Given the description of an element on the screen output the (x, y) to click on. 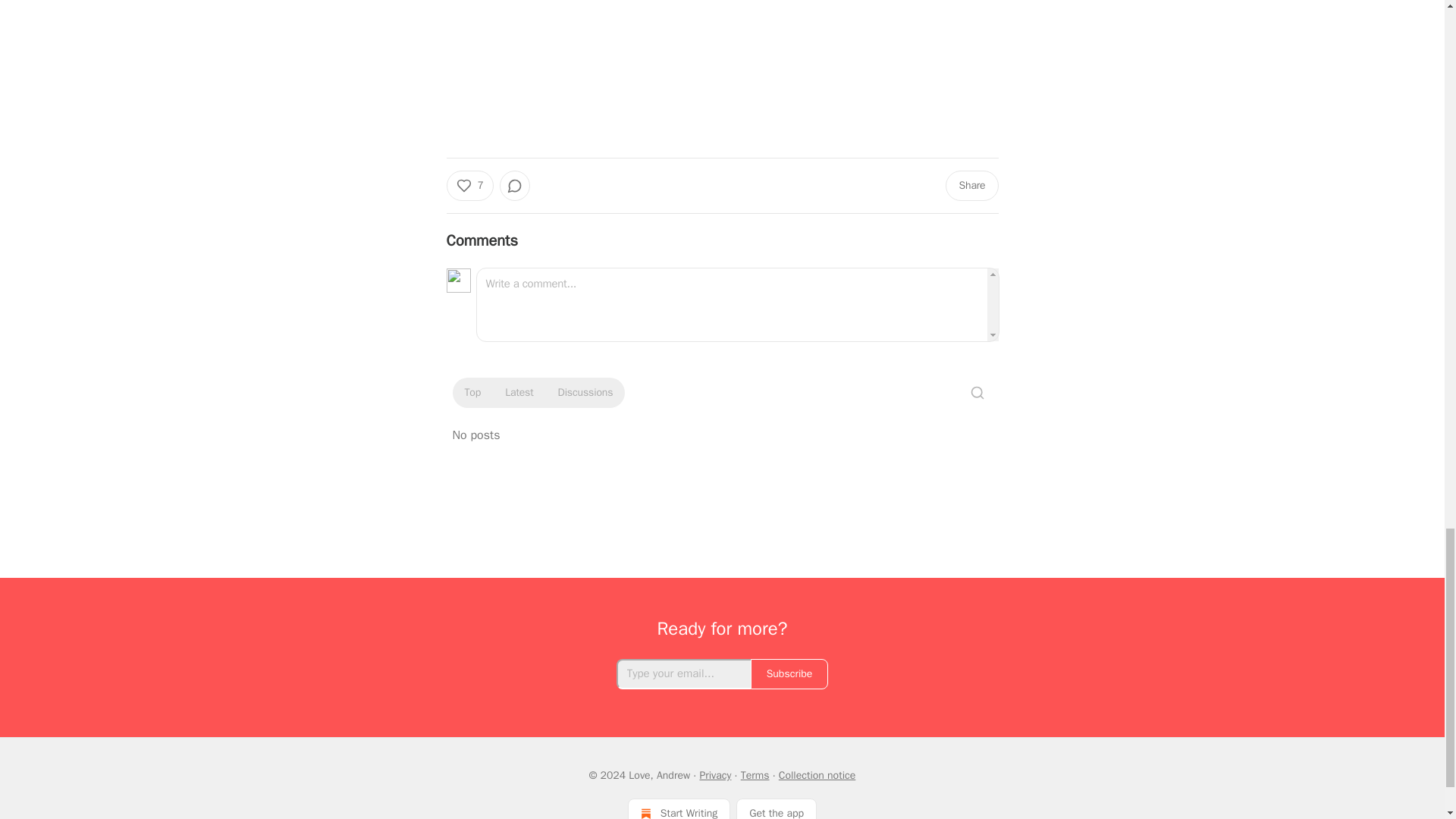
7 (469, 185)
